Given the description of an element on the screen output the (x, y) to click on. 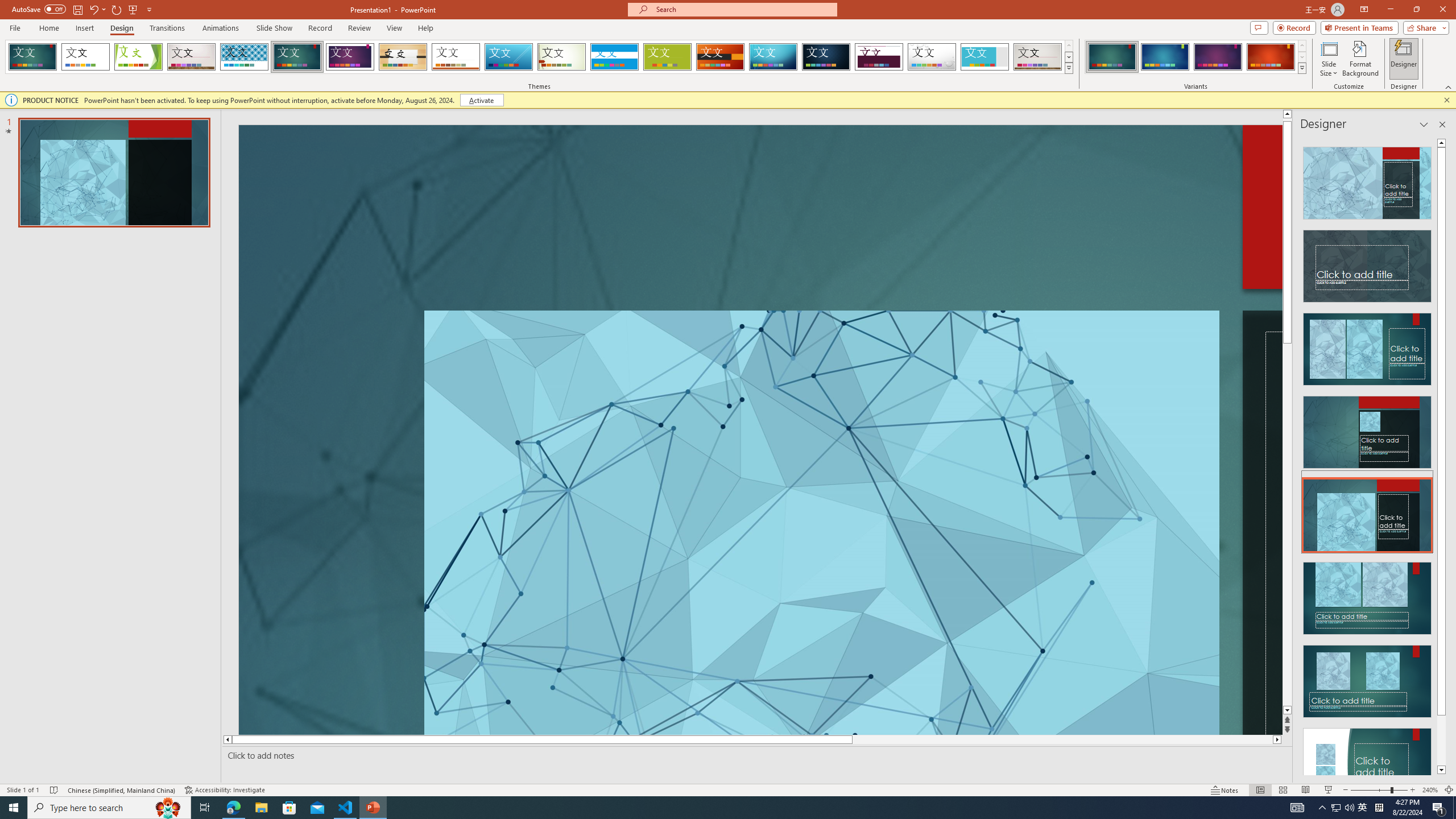
AutomationID: SlideThemesGallery (539, 56)
